Given the description of an element on the screen output the (x, y) to click on. 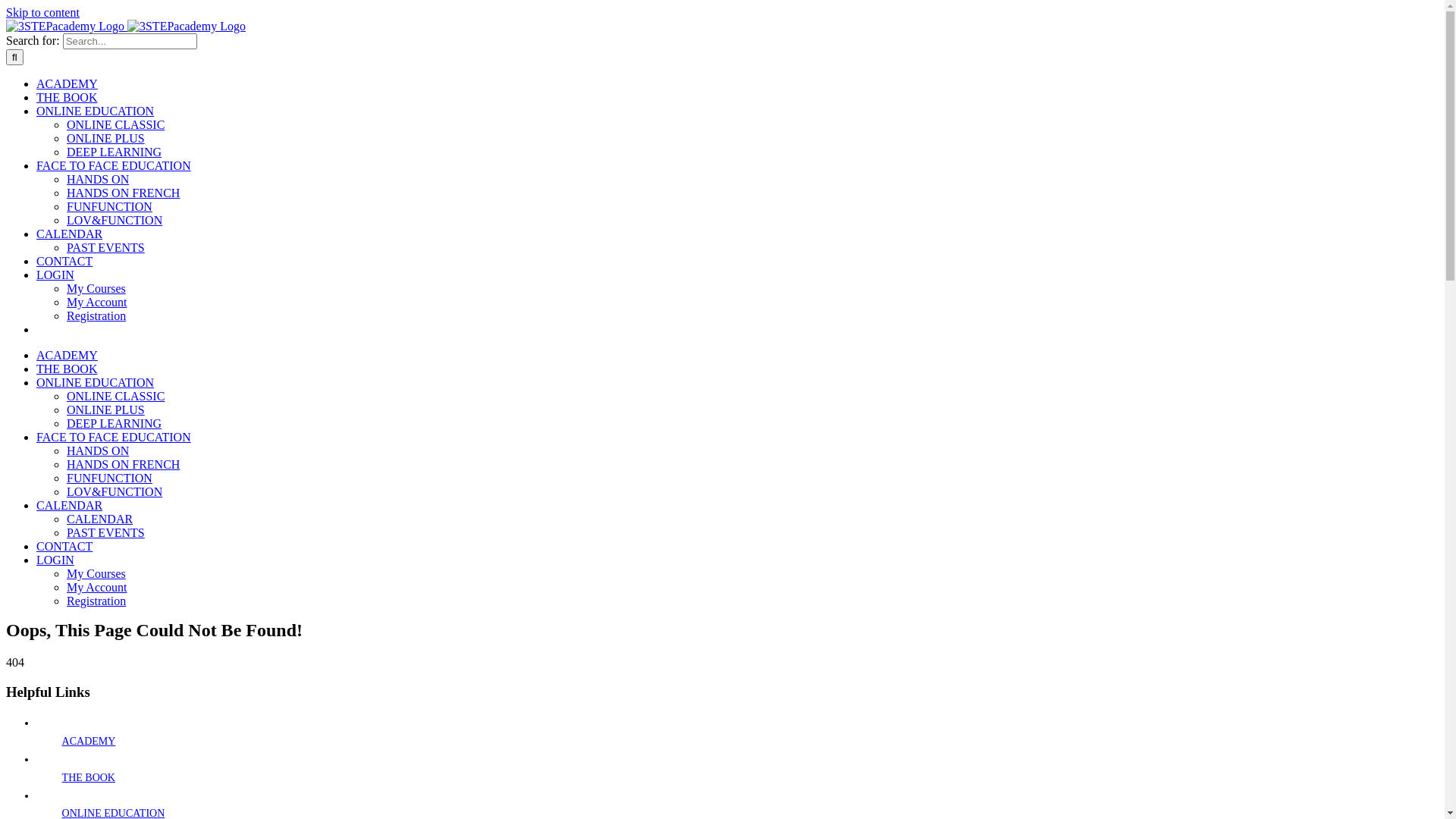
CONTACT Element type: text (64, 260)
My Courses Element type: text (95, 573)
HANDS ON Element type: text (97, 178)
CALENDAR Element type: text (69, 504)
DEEP LEARNING Element type: text (113, 151)
LOGIN Element type: text (55, 274)
LOV&FUNCTION Element type: text (114, 219)
Skip to content Element type: text (42, 12)
CALENDAR Element type: text (99, 518)
PAST EVENTS Element type: text (105, 532)
HANDS ON Element type: text (97, 450)
THE BOOK Element type: text (88, 777)
ONLINE CLASSIC Element type: text (115, 395)
DEEP LEARNING Element type: text (113, 423)
CONTACT Element type: text (64, 545)
ONLINE PLUS Element type: text (105, 137)
ACADEMY Element type: text (66, 83)
LOGIN Element type: text (55, 559)
Registration Element type: text (95, 600)
Registration Element type: text (95, 315)
LOV&FUNCTION Element type: text (114, 491)
THE BOOK Element type: text (66, 97)
ONLINE PLUS Element type: text (105, 409)
My Account Element type: text (96, 301)
FACE TO FACE EDUCATION Element type: text (113, 165)
ONLINE CLASSIC Element type: text (115, 124)
HANDS ON FRENCH Element type: text (122, 192)
ONLINE EDUCATION Element type: text (94, 110)
FUNFUNCTION Element type: text (109, 206)
My Courses Element type: text (95, 288)
CALENDAR Element type: text (69, 233)
PAST EVENTS Element type: text (105, 247)
THE BOOK Element type: text (66, 368)
FACE TO FACE EDUCATION Element type: text (113, 436)
ACADEMY Element type: text (89, 740)
ACADEMY Element type: text (66, 354)
ONLINE EDUCATION Element type: text (94, 382)
FUNFUNCTION Element type: text (109, 477)
HANDS ON FRENCH Element type: text (122, 464)
My Account Element type: text (96, 586)
